Given the description of an element on the screen output the (x, y) to click on. 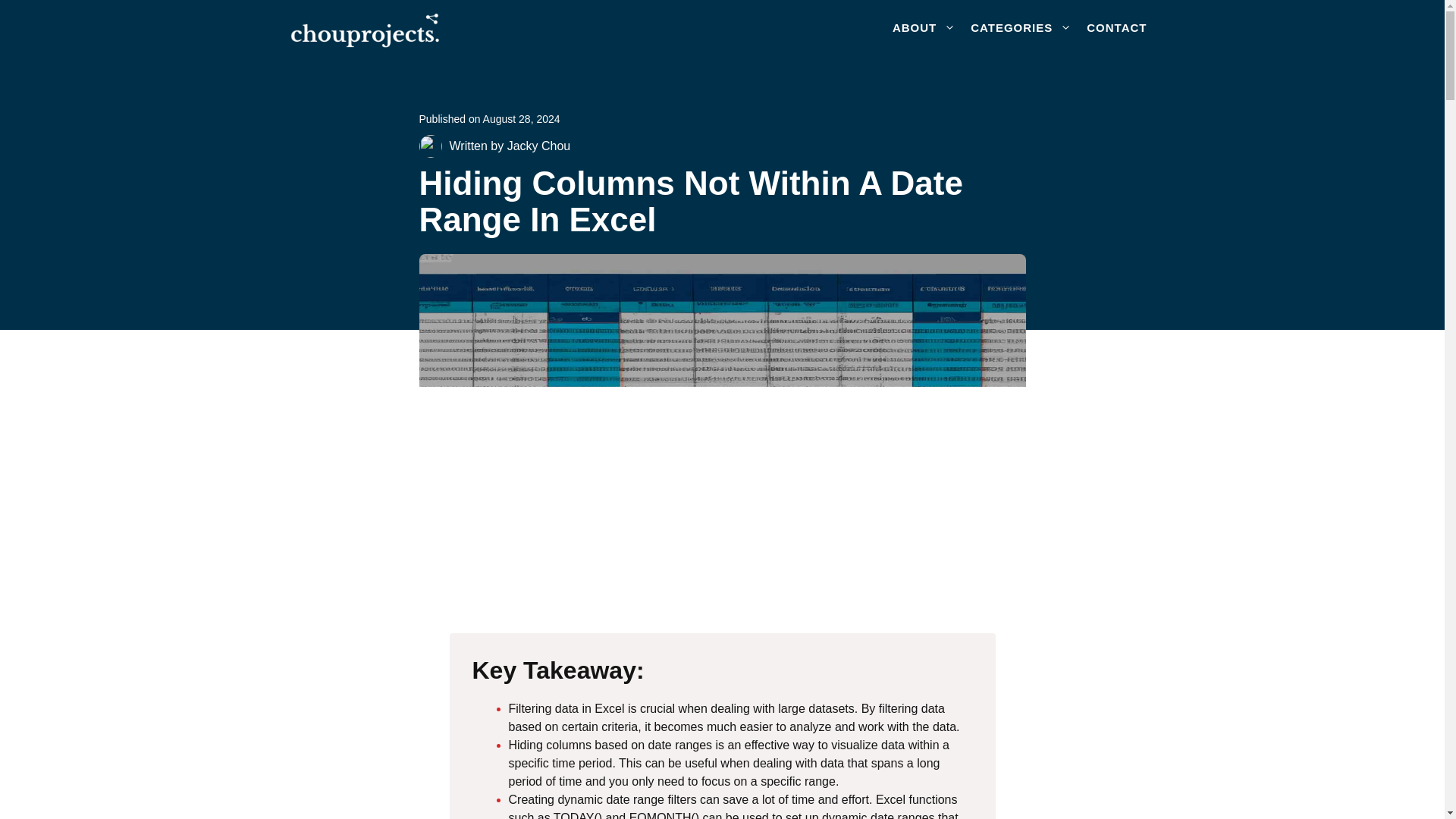
CONTACT (1116, 27)
ABOUT (923, 27)
CATEGORIES (1020, 27)
